Given the description of an element on the screen output the (x, y) to click on. 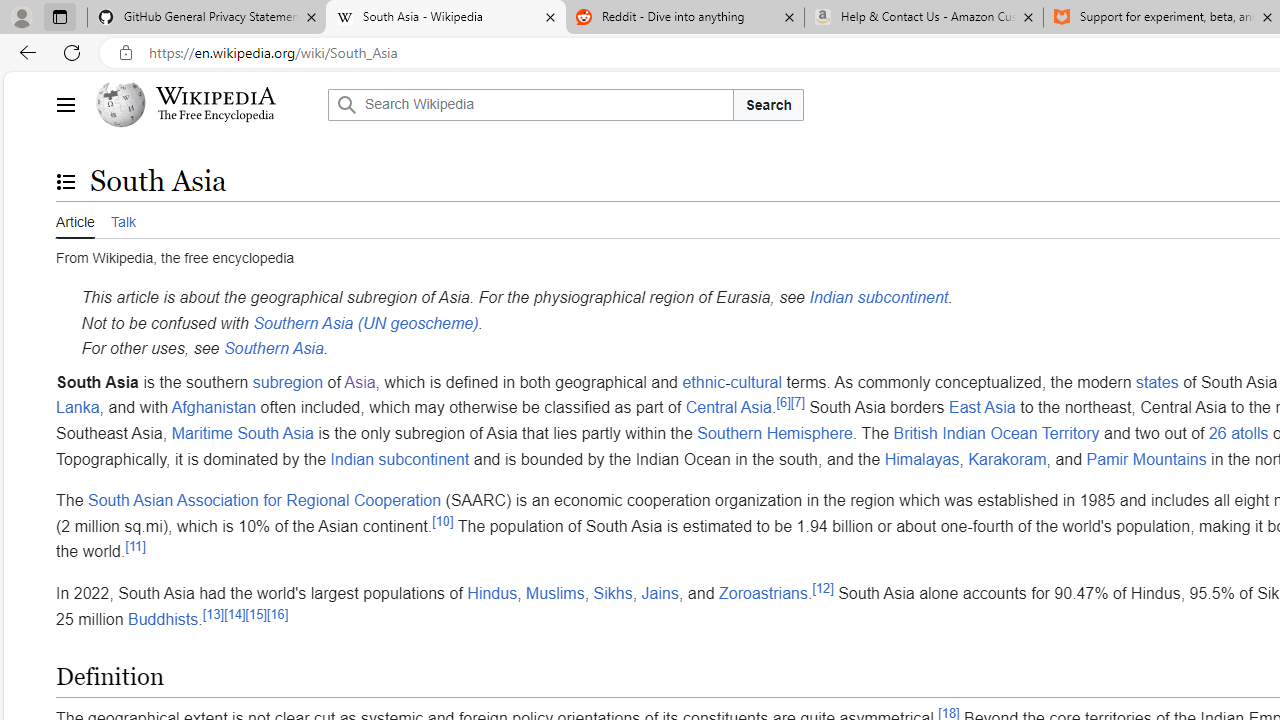
Southern Hemisphere (774, 433)
cultural (756, 381)
Southern Asia (UN geoscheme) (365, 322)
East Asia (982, 407)
[11] (135, 547)
Talk (122, 219)
Sikhs (612, 592)
South Asian Association for Regional Cooperation (264, 500)
Hindus (492, 592)
